Given the description of an element on the screen output the (x, y) to click on. 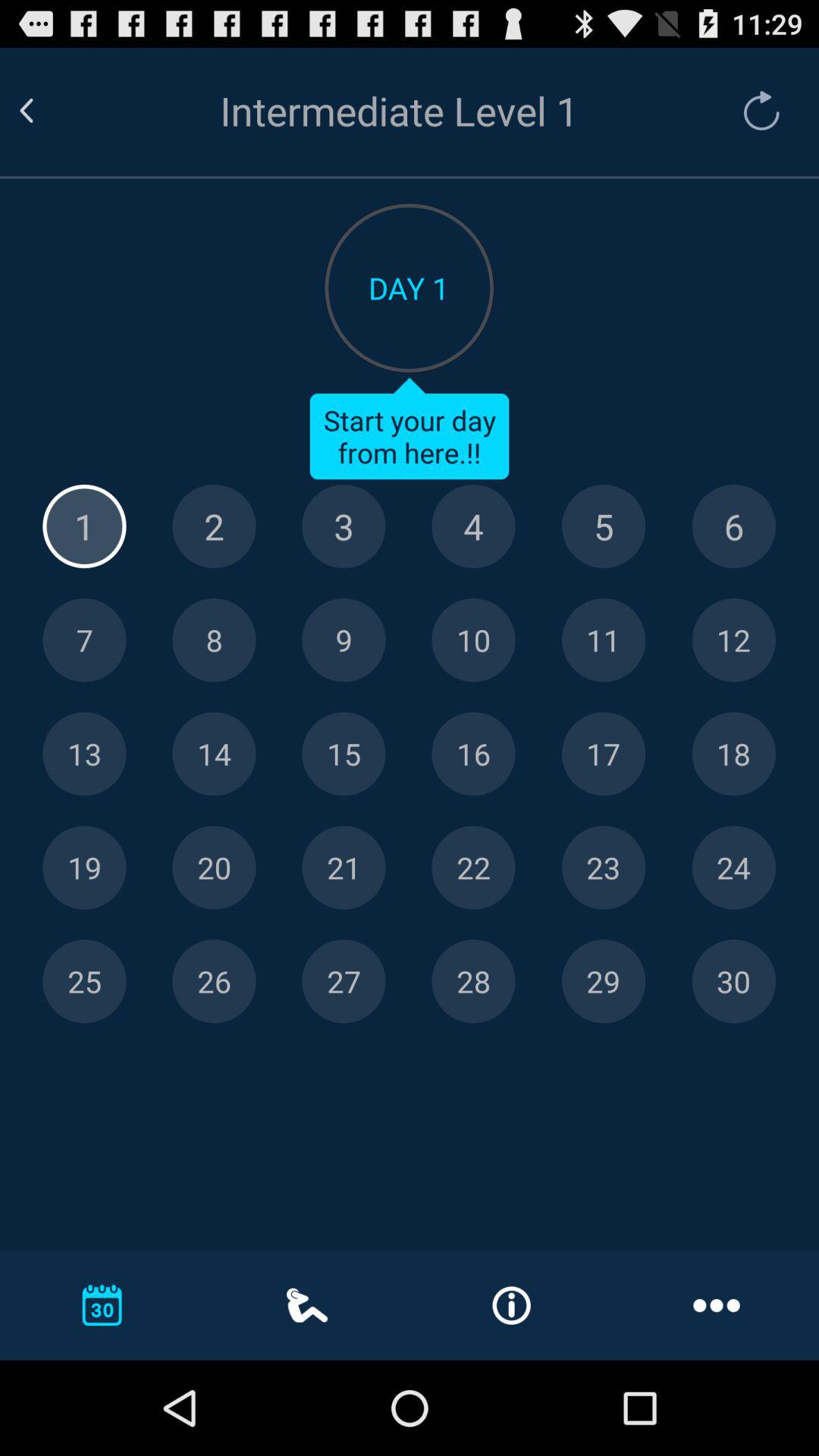
go to the 16th day (473, 753)
